Given the description of an element on the screen output the (x, y) to click on. 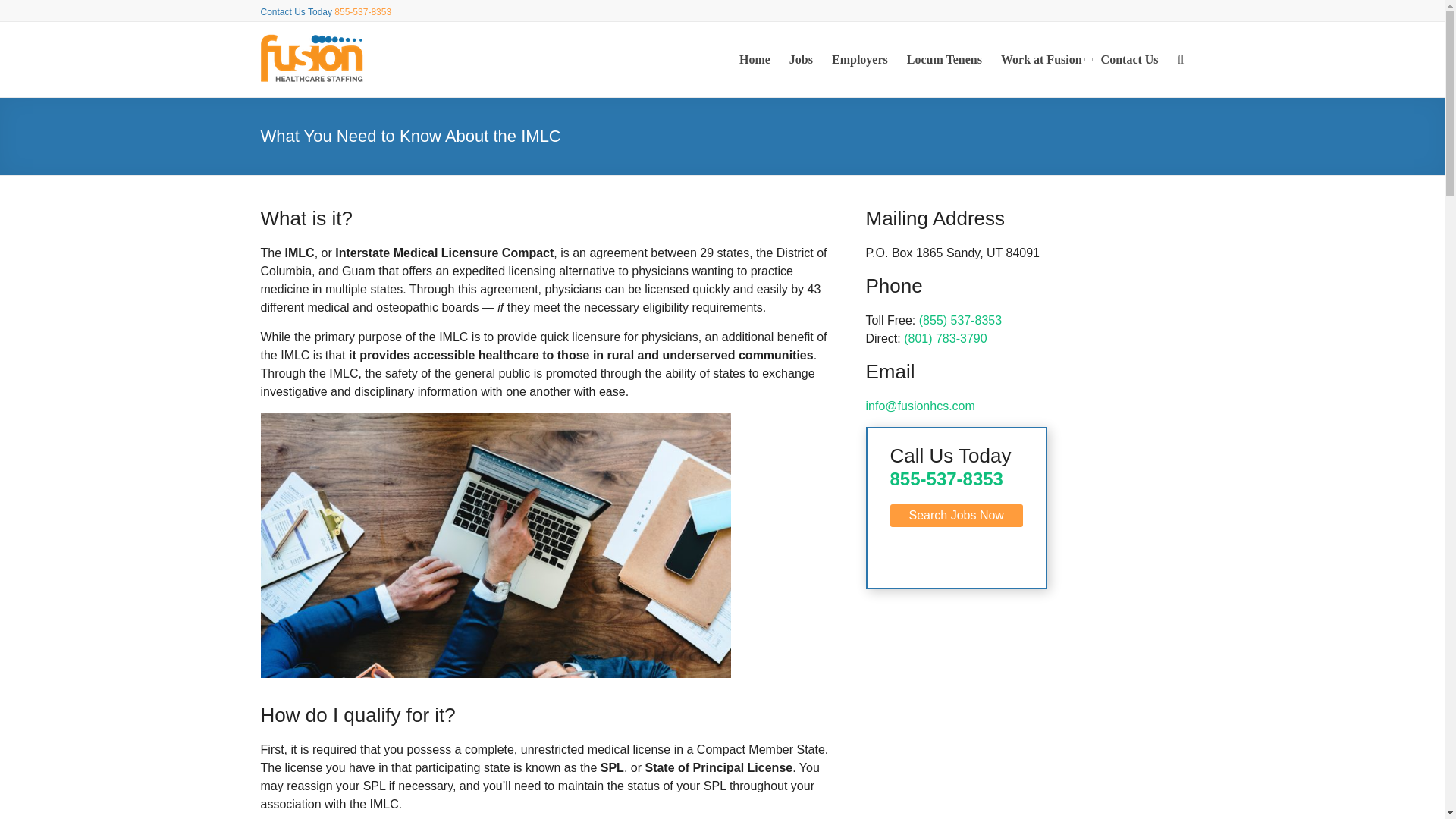
855-537-8353 (362, 11)
Search Jobs Now (956, 515)
Call us (362, 11)
Search (1089, 170)
Search Jobs Now (955, 514)
Search Jobs Now (955, 514)
Home (754, 59)
Work at Fusion (1041, 59)
855-537-8353 (946, 478)
Locum Tenens (944, 59)
Contact Us (1129, 59)
Employers (859, 59)
Jobs (800, 59)
Call us today (946, 478)
